Given the description of an element on the screen output the (x, y) to click on. 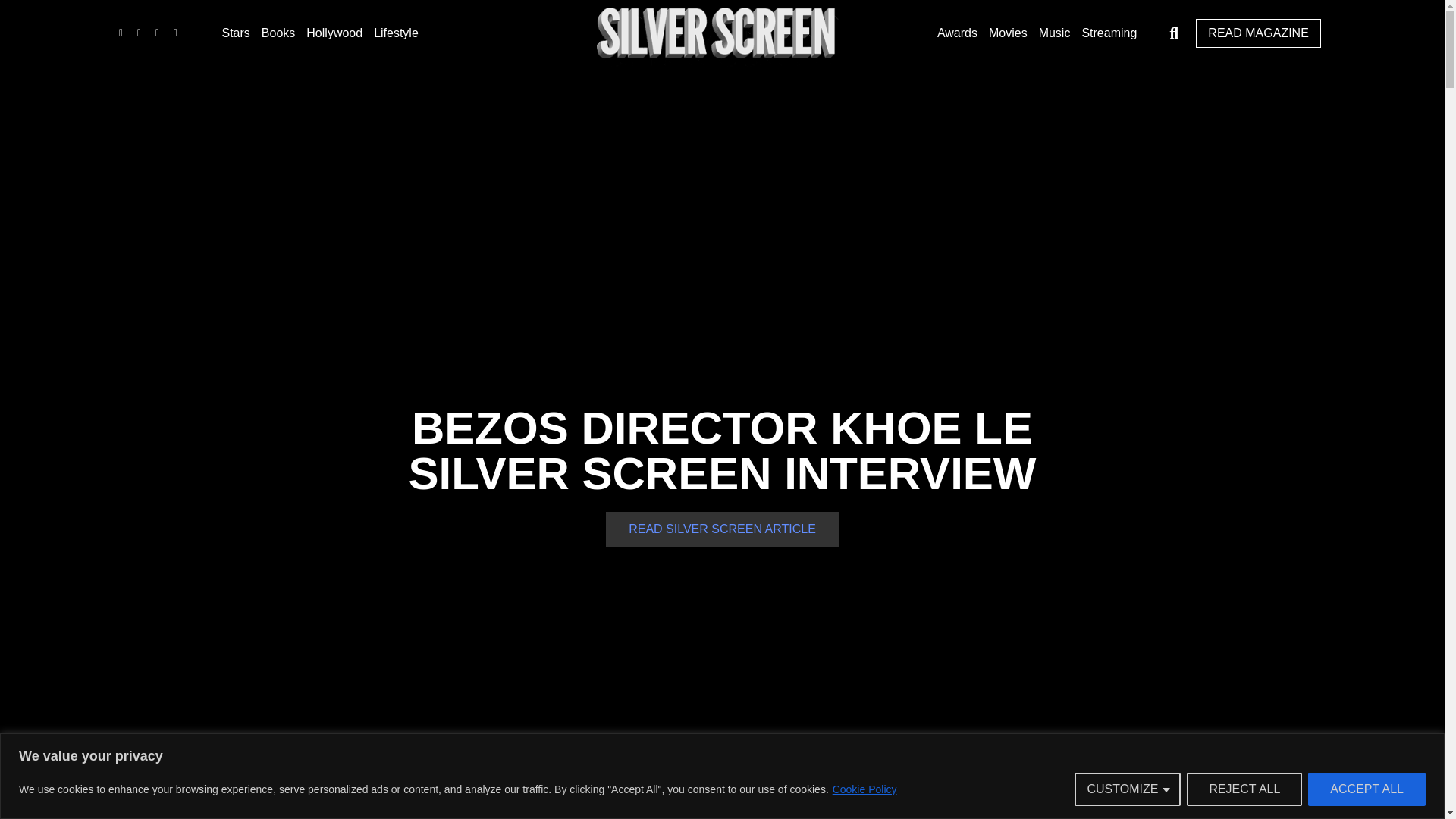
Awards (956, 32)
CUSTOMIZE (1127, 788)
Streaming (1109, 32)
READ MAGAZINE (1257, 32)
Hollywood (333, 32)
Cookie Policy (864, 789)
ACCEPT ALL (1366, 788)
Stars (234, 32)
REJECT ALL (1243, 788)
Books (278, 32)
Movies (1007, 32)
Lifestyle (396, 32)
Music (1054, 32)
